Given the description of an element on the screen output the (x, y) to click on. 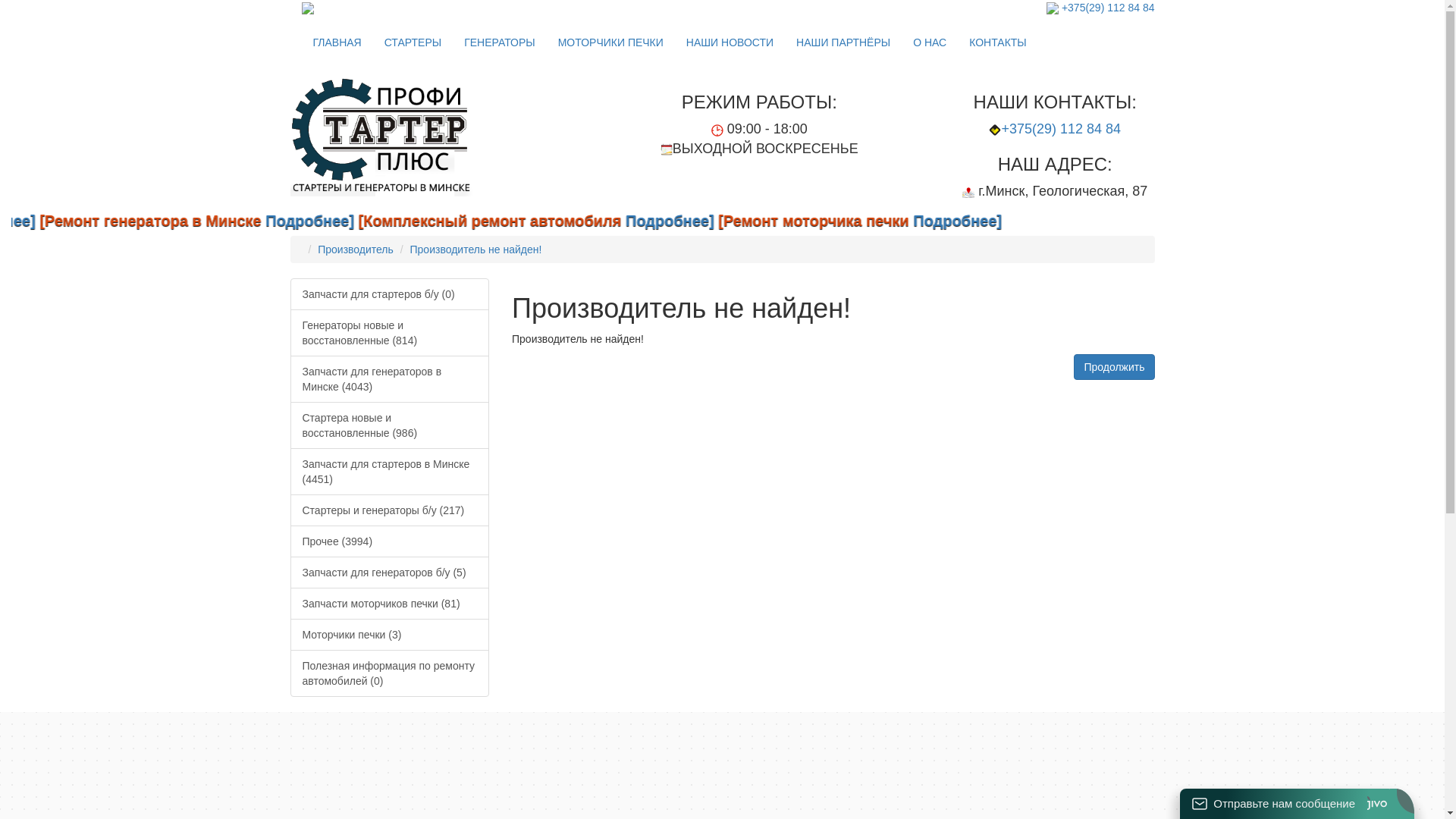
+375(29) 112 84 84 Element type: text (1060, 128)
+375(29) 112 84 84 Element type: text (1107, 7)
